Given the description of an element on the screen output the (x, y) to click on. 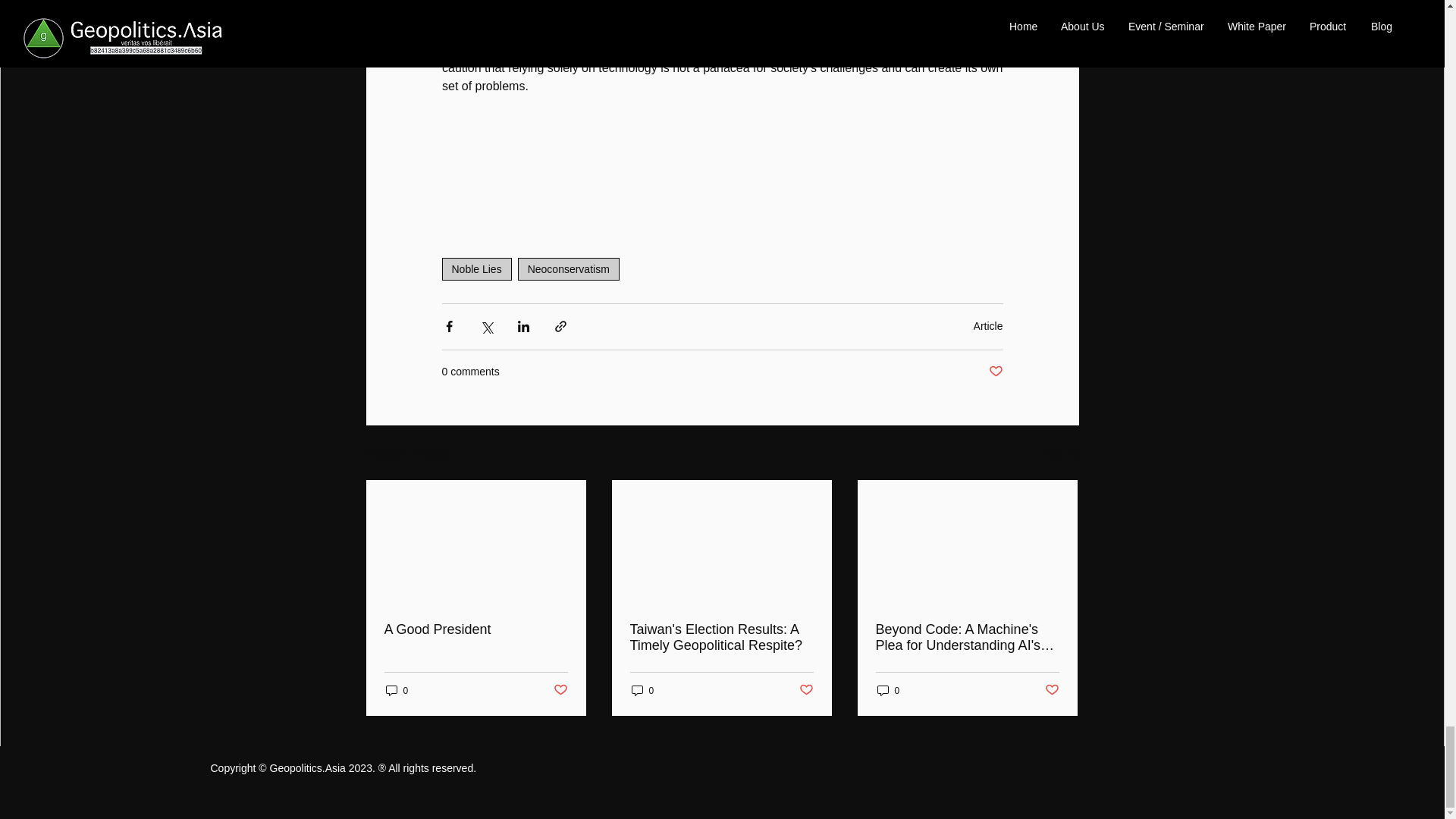
Post not marked as liked (995, 371)
Article (988, 326)
Neoconservatism (569, 268)
Noble Lies (476, 268)
